Given the description of an element on the screen output the (x, y) to click on. 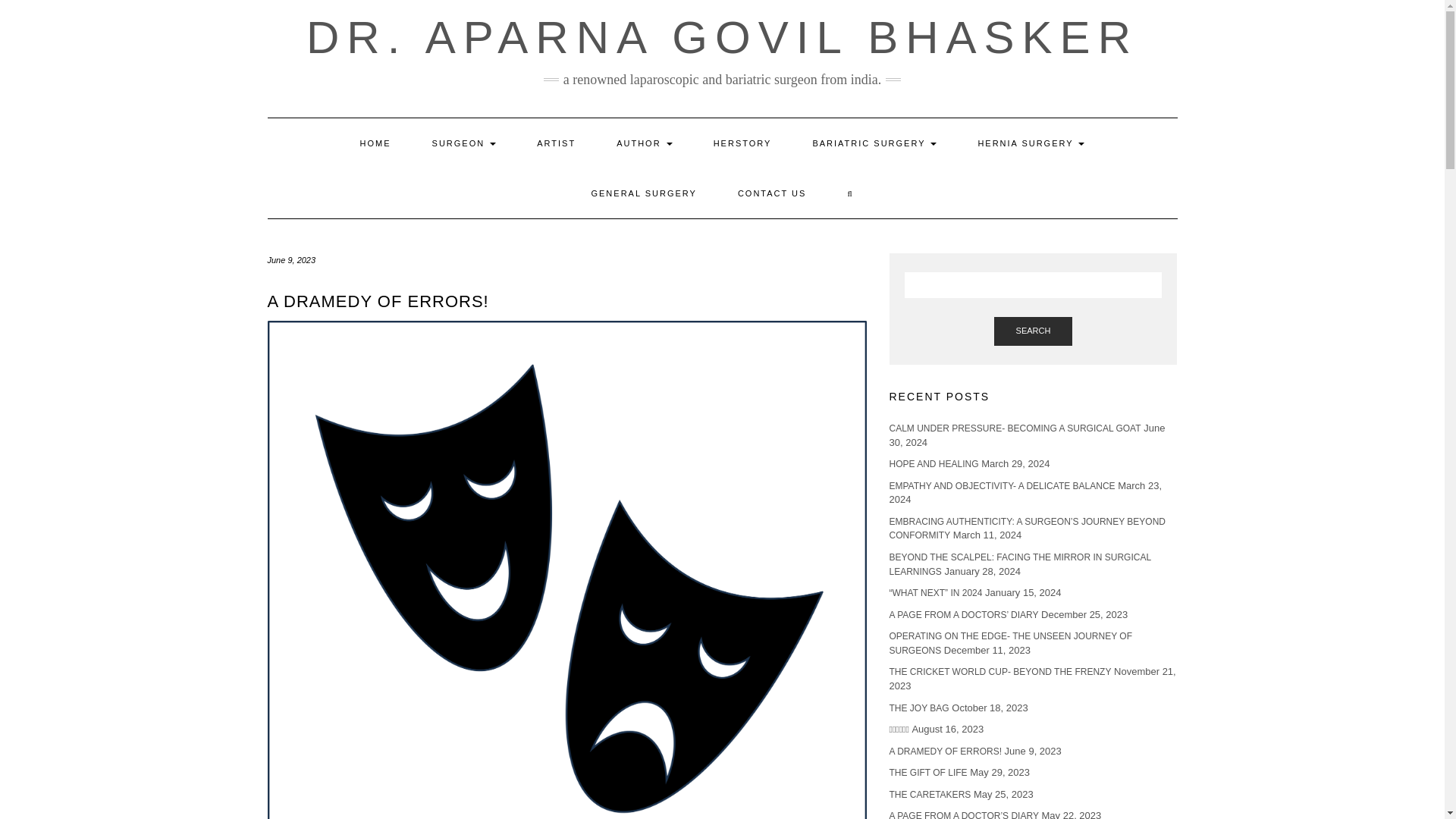
HOME (375, 142)
HERNIA SURGERY (1030, 142)
DR. APARNA GOVIL BHASKER (721, 37)
HERSTORY (742, 142)
AUTHOR (644, 142)
ARTIST (555, 142)
SURGEON (464, 142)
BARIATRIC SURGERY (874, 142)
